Given the description of an element on the screen output the (x, y) to click on. 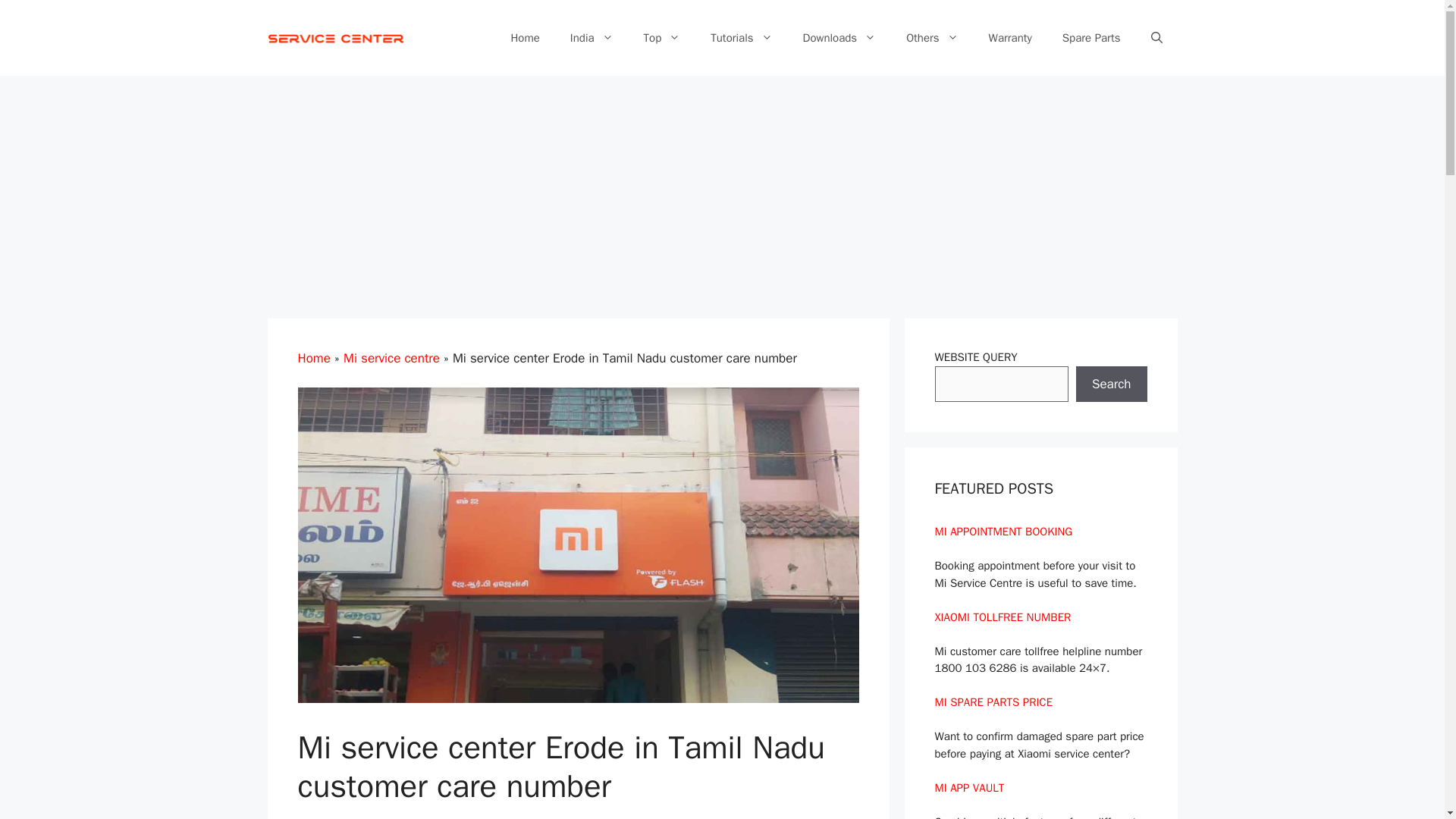
Top (661, 37)
Home (524, 37)
India (591, 37)
